Given the description of an element on the screen output the (x, y) to click on. 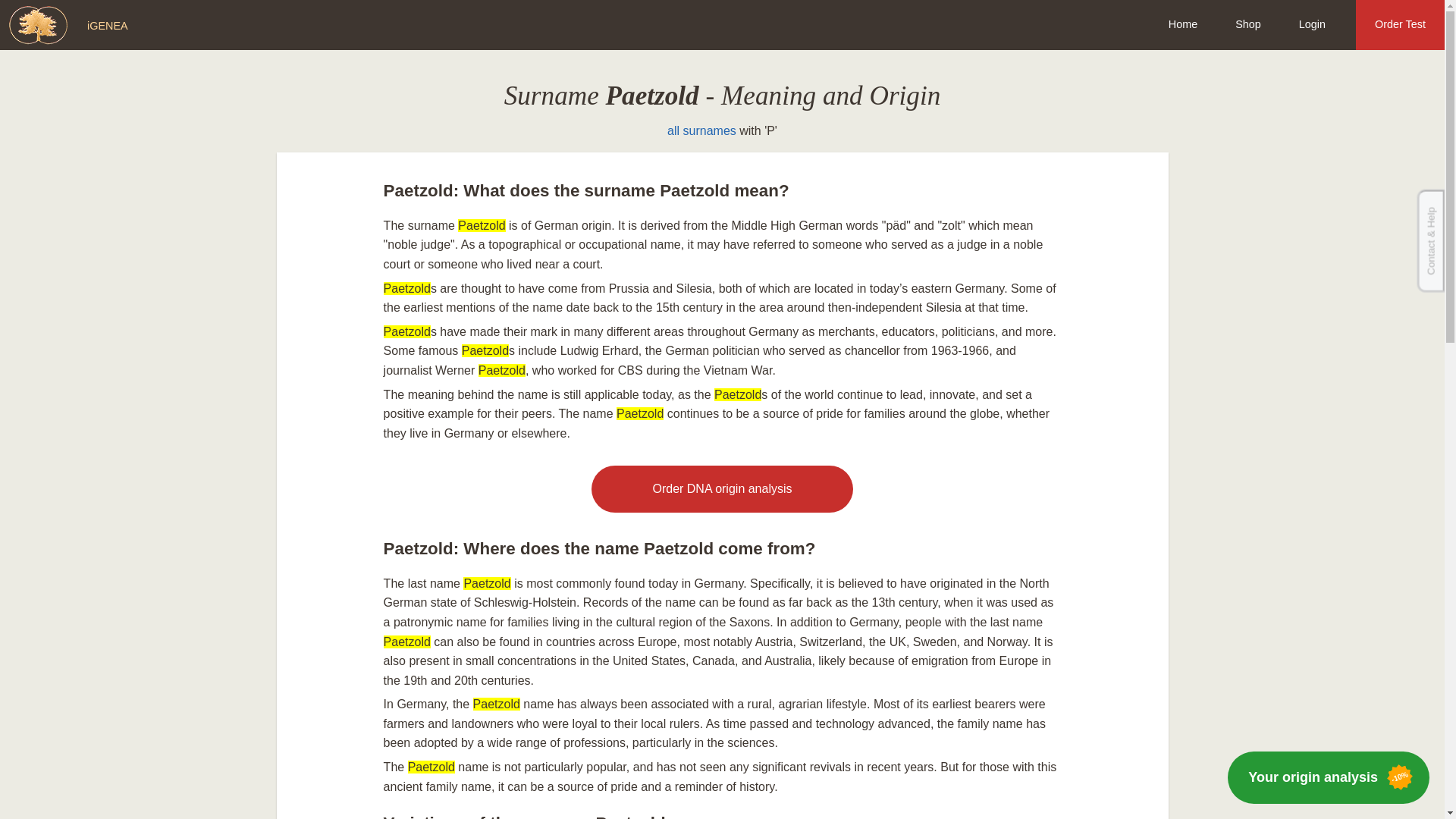
Login (1311, 24)
Order DNA origin analysis (721, 489)
Home (1182, 24)
Shop (1247, 24)
Order test kit (721, 489)
all surnames (701, 130)
